Given the description of an element on the screen output the (x, y) to click on. 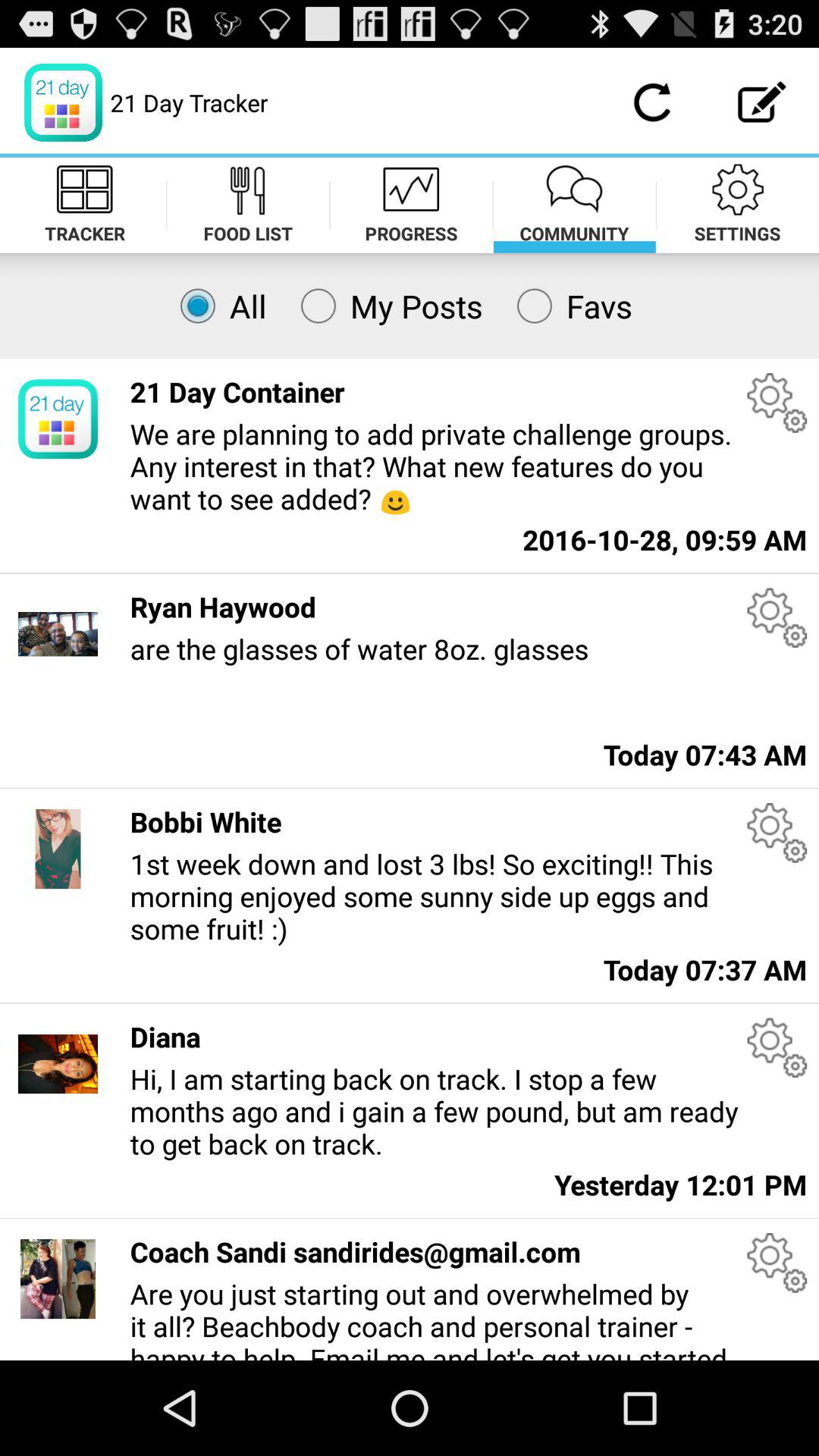
click on all below food list (216, 306)
